Given the description of an element on the screen output the (x, y) to click on. 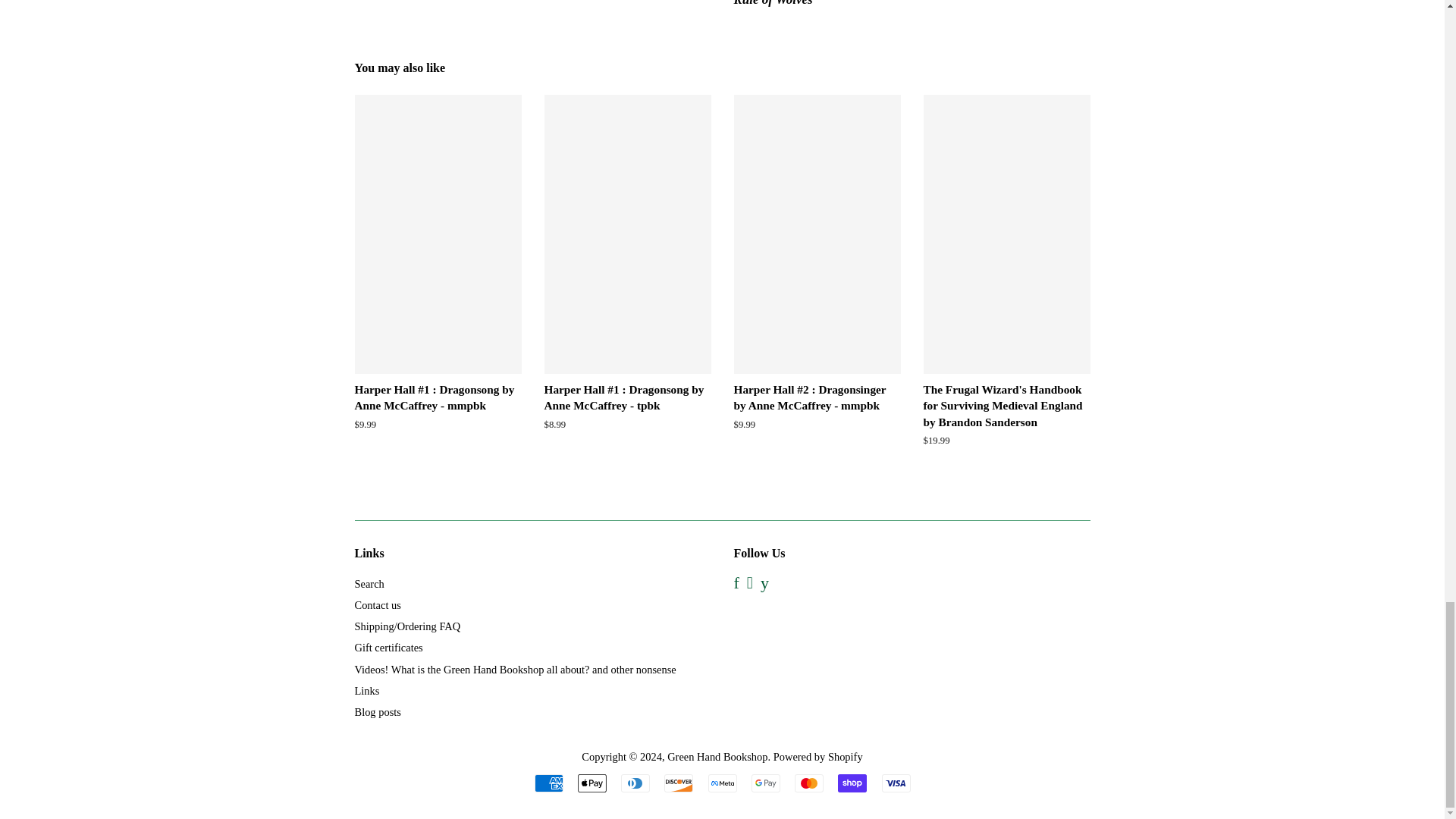
American Express (548, 782)
Visa (895, 782)
Diners Club (635, 782)
Apple Pay (592, 782)
Meta Pay (721, 782)
Mastercard (809, 782)
Discover (678, 782)
Google Pay (765, 782)
Shop Pay (852, 782)
